Given the description of an element on the screen output the (x, y) to click on. 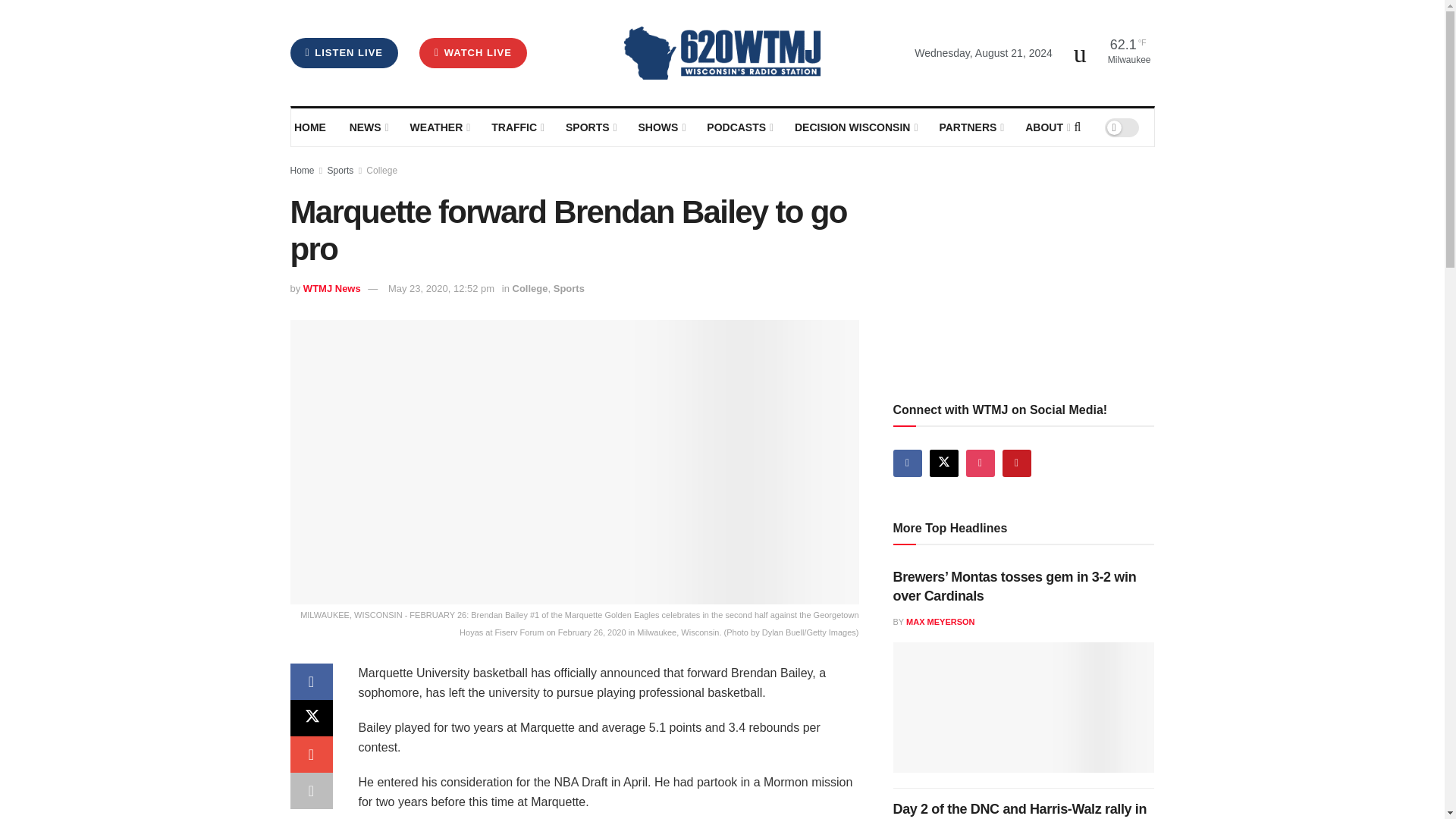
WEATHER (438, 127)
SPORTS (589, 127)
LISTEN LIVE (343, 52)
NEWS (368, 127)
TRAFFIC (516, 127)
HOME (310, 127)
WATCH LIVE (473, 52)
